Given the description of an element on the screen output the (x, y) to click on. 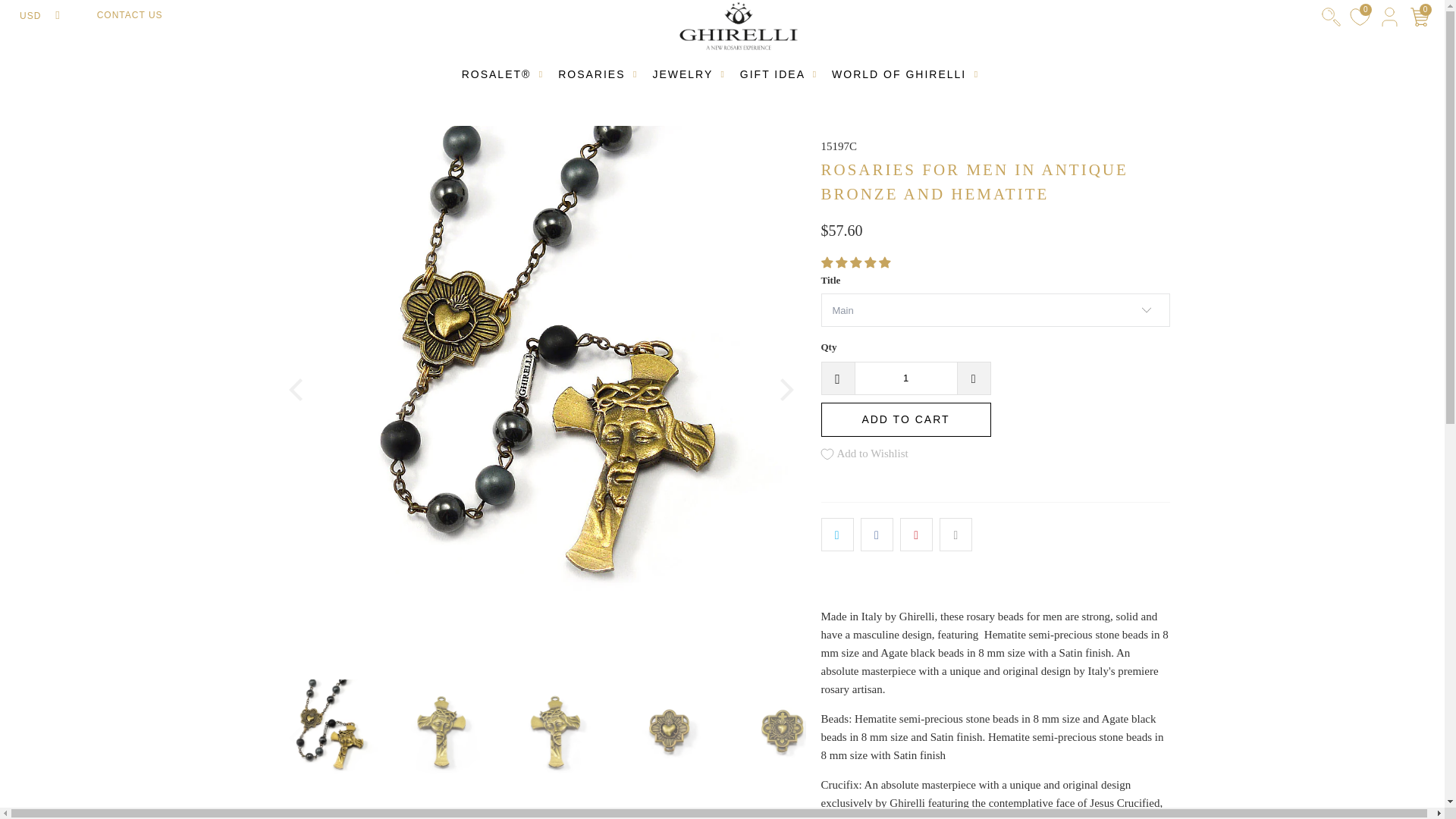
Share this on Pinterest (916, 534)
Share this on Twitter (837, 534)
Ghirelli Rosaries (738, 26)
Email this to a friend (955, 534)
Share this on Facebook (876, 534)
1 (904, 377)
Add to Wishlist (864, 453)
